Given the description of an element on the screen output the (x, y) to click on. 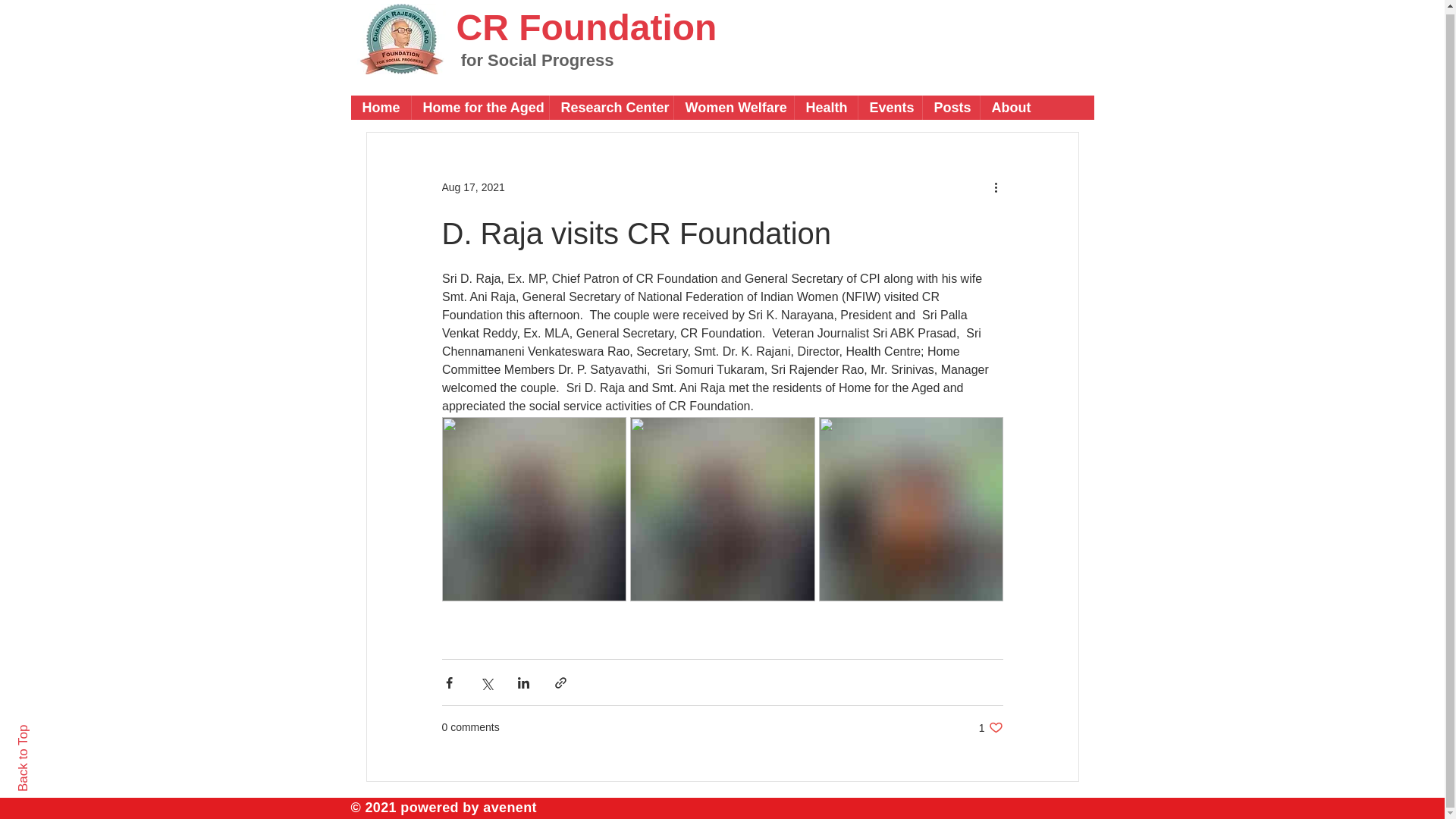
Women Welfare (732, 104)
Posts (950, 104)
Home (380, 104)
Health (825, 104)
Aug 17, 2021 (990, 727)
Back to Top (472, 186)
About (49, 728)
Research Center (1009, 104)
Home for the Aged (610, 104)
